Given the description of an element on the screen output the (x, y) to click on. 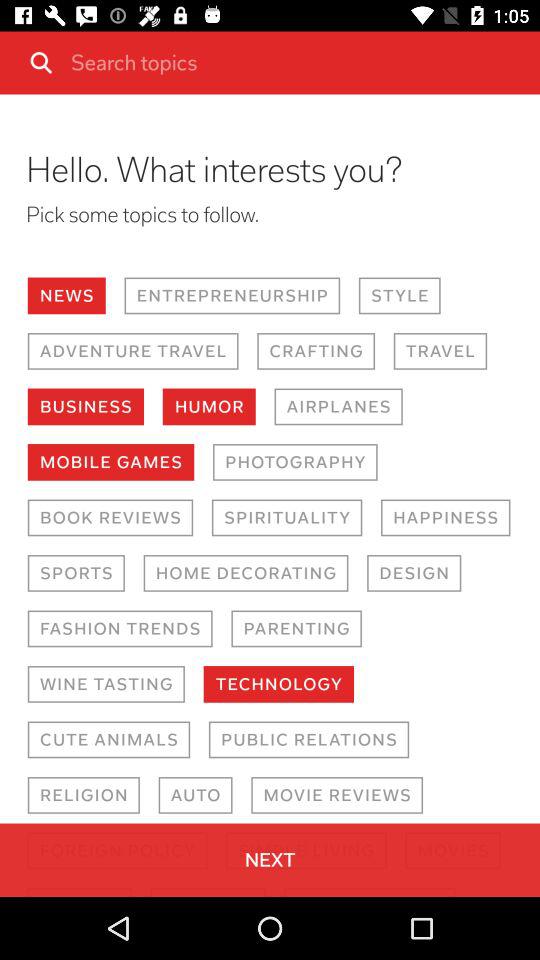
open happiness (445, 517)
